Given the description of an element on the screen output the (x, y) to click on. 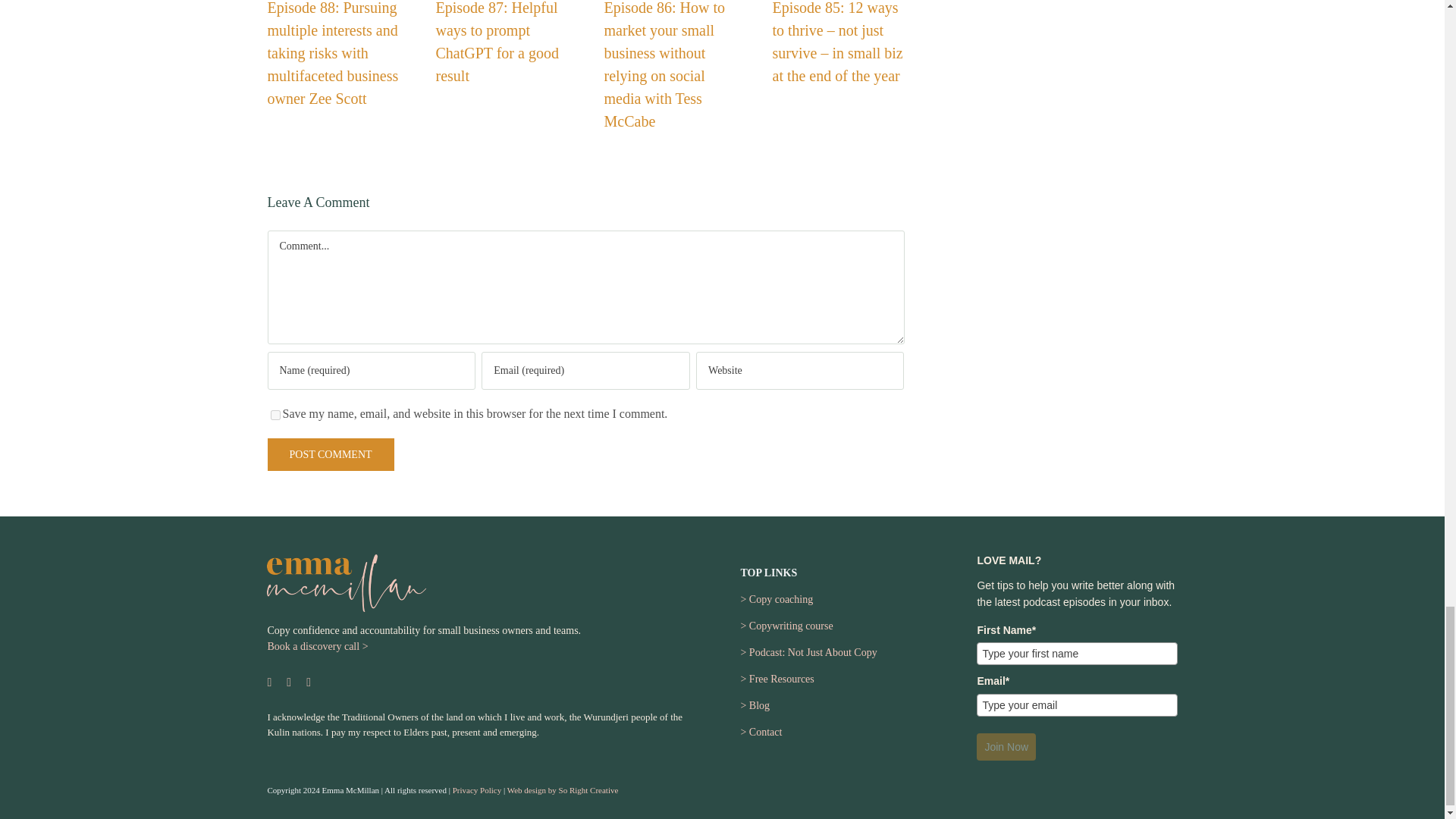
yes (274, 415)
Episode 87: Helpful ways to prompt ChatGPT for a good result (496, 42)
Post Comment (329, 454)
